Given the description of an element on the screen output the (x, y) to click on. 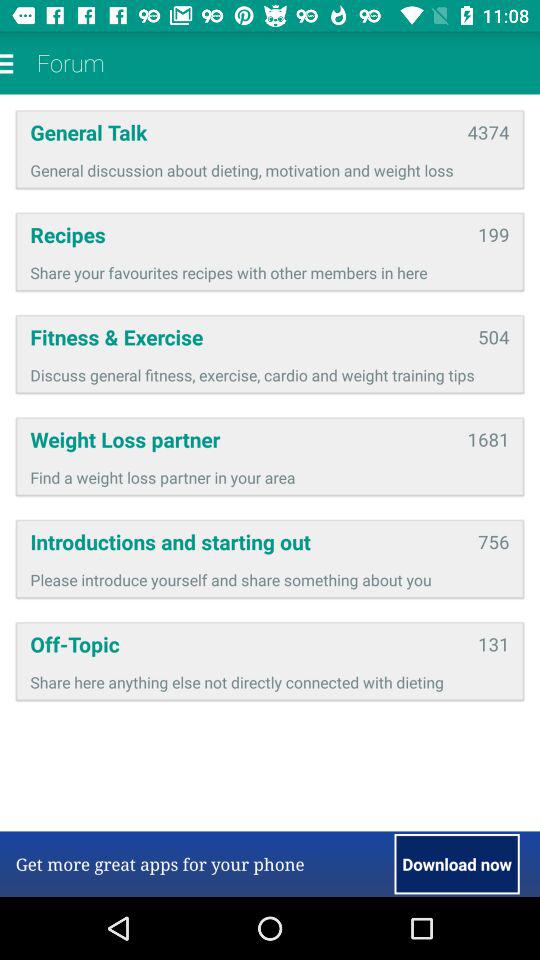
jump until the 756 item (493, 541)
